Given the description of an element on the screen output the (x, y) to click on. 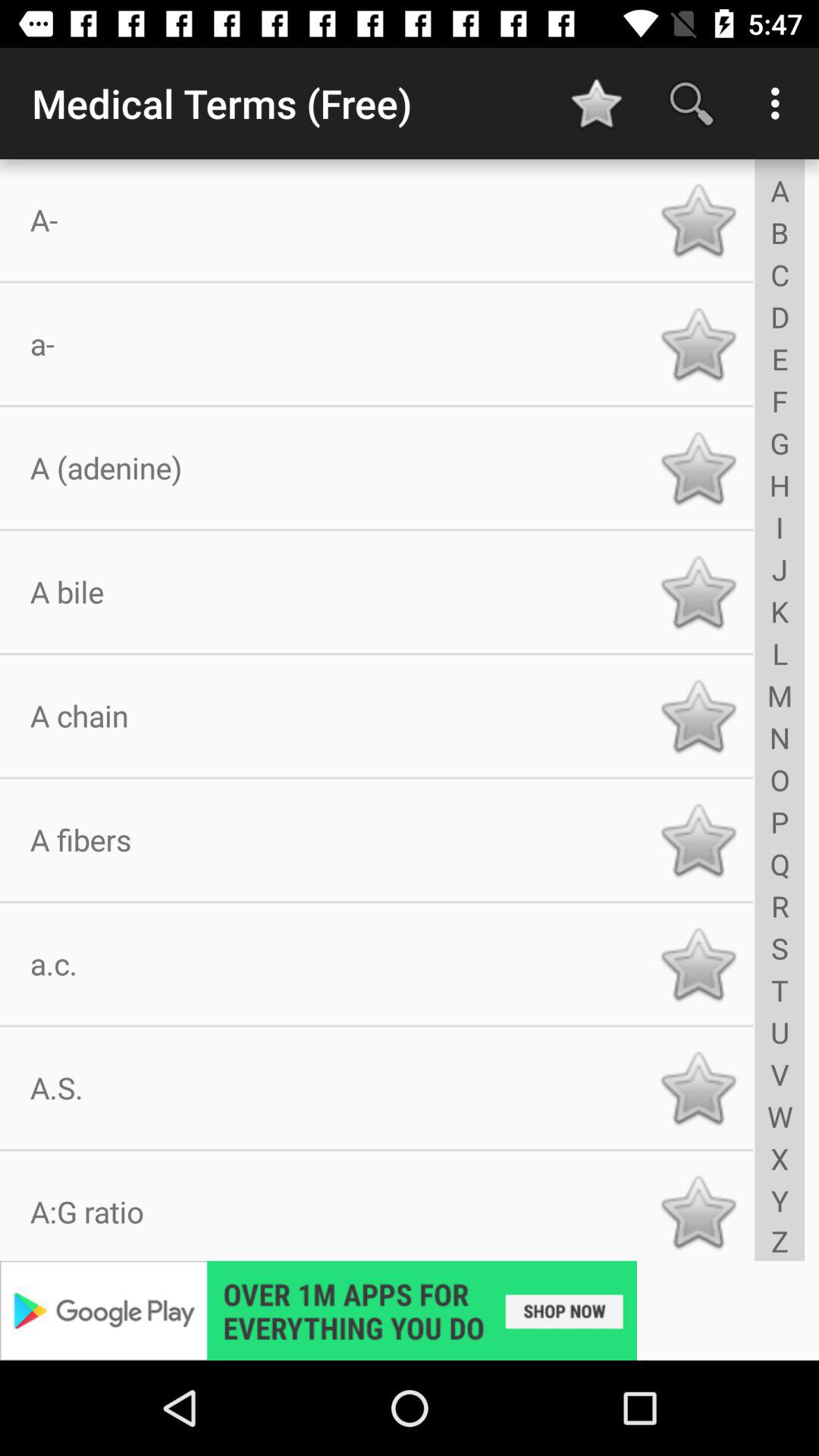
add to favorites (697, 220)
